Given the description of an element on the screen output the (x, y) to click on. 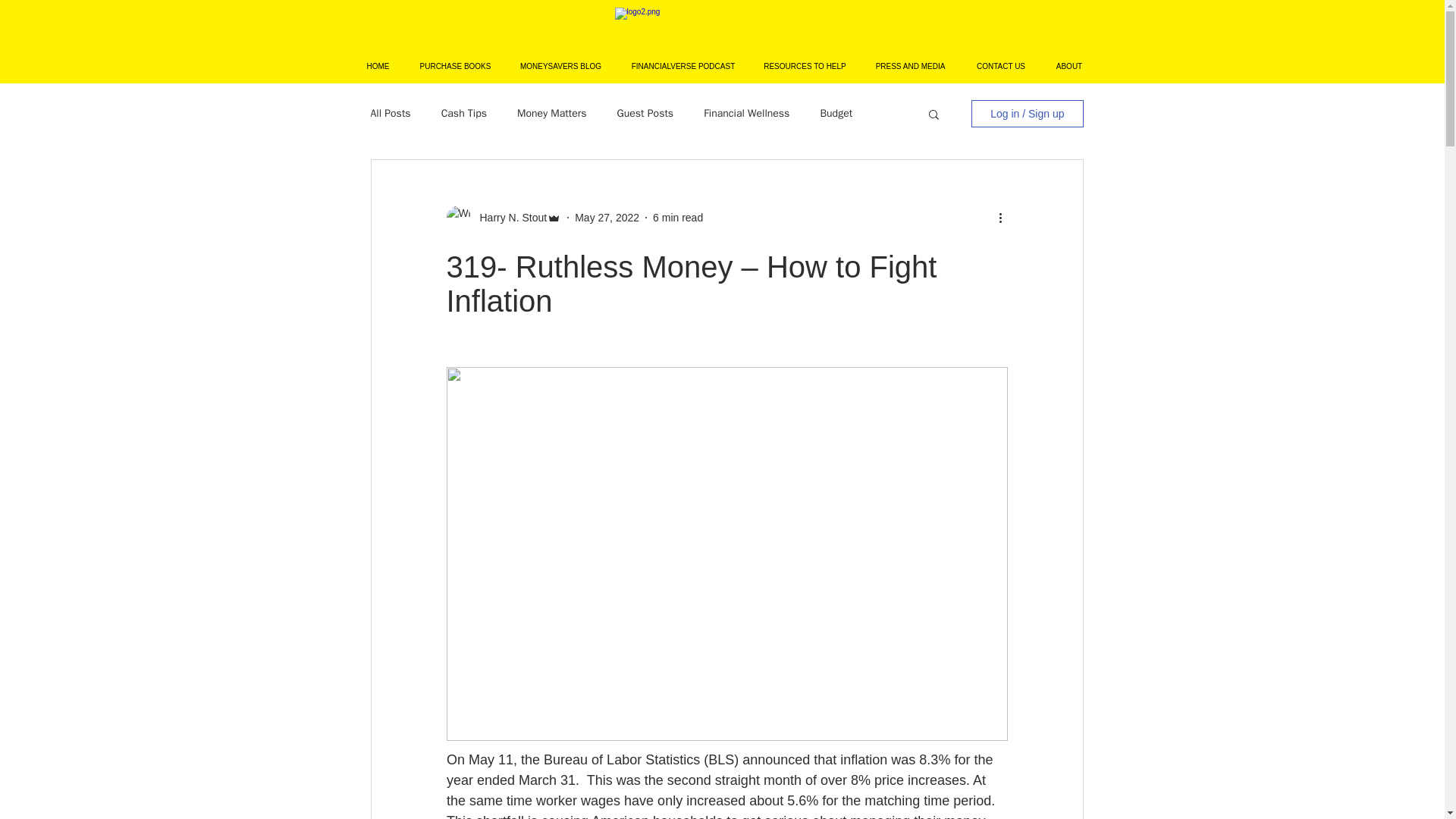
Cash Tips (463, 113)
Guest Posts (643, 113)
PRESS AND MEDIA (910, 66)
May 27, 2022 (607, 216)
All Posts (389, 113)
FINANCIALVERSE PODCAST (682, 66)
CONTACT US (1000, 66)
Financial Wellness (746, 113)
Budget (835, 113)
Money Matters (551, 113)
MONEYSAVERS BLOG (560, 66)
RESOURCES TO HELP (805, 66)
6 min read (677, 216)
HOME (377, 66)
Harry N. Stout (508, 217)
